Given the description of an element on the screen output the (x, y) to click on. 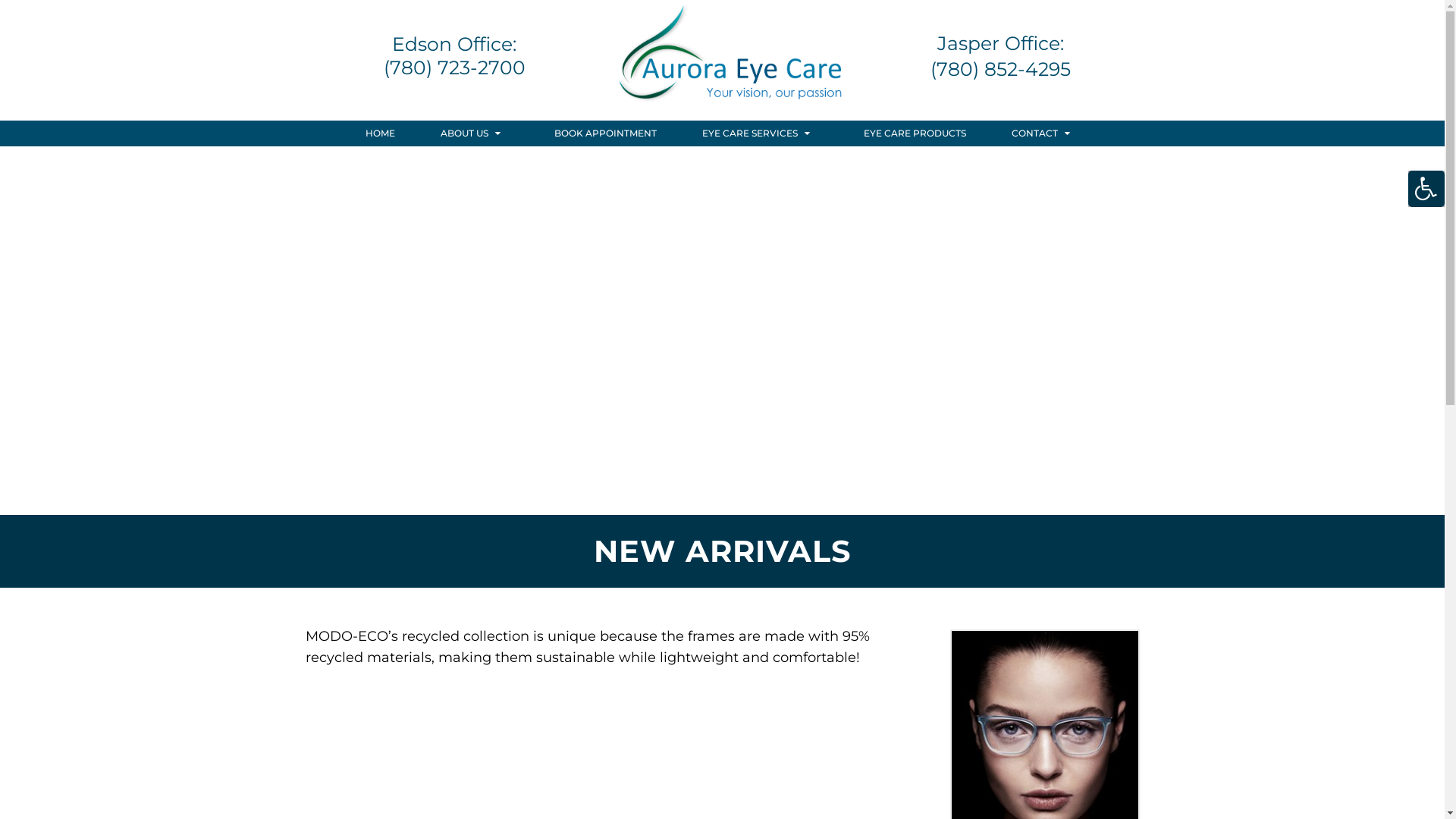
BOOK APPOINTMENT Element type: text (605, 133)
(780) 852-4295 Element type: text (1000, 69)
(780) 723-2700 Element type: text (454, 67)
Jasper Office: Element type: text (1000, 43)
EYE CARE SERVICES Element type: text (760, 133)
CONTACT Element type: text (1045, 133)
HOME Element type: text (379, 133)
Accessibility Helper sidebar Element type: hover (1426, 188)
ABOUT US Element type: text (475, 133)
Edson Office: Element type: text (454, 44)
EYE CARE PRODUCTS Element type: text (914, 133)
